Given the description of an element on the screen output the (x, y) to click on. 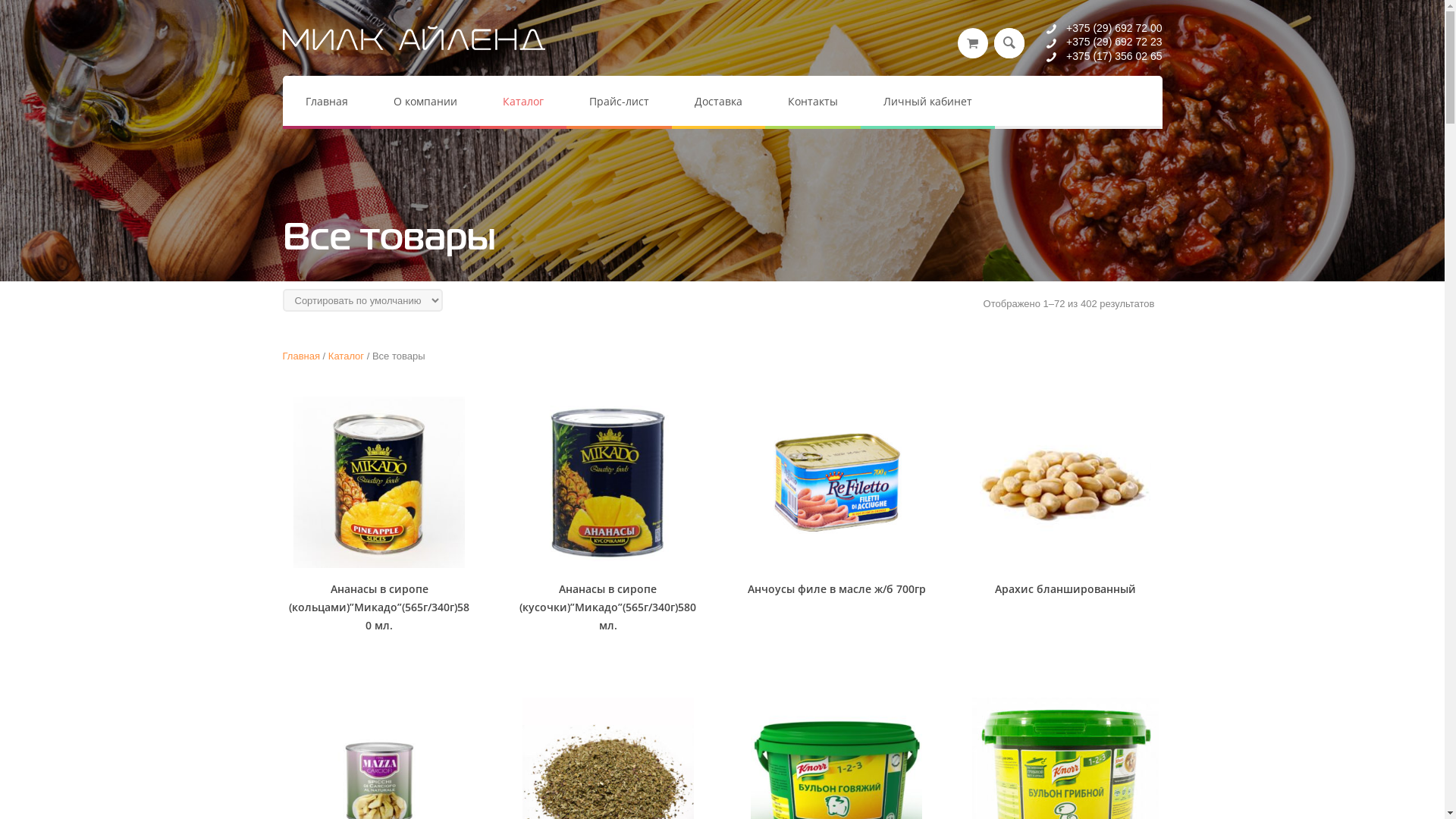
18513c49-0478-11eb-8105-50e5493adf07 Element type: hover (378, 481)
2937a494-29e9-11ee-8123-50e5493adf07 Element type: hover (836, 481)
f4d7552f-8b39-11ed-811e-50e5493adf07 Element type: hover (607, 481)
baf8597d-2864-11ea-80f1-50e5493adf07 Element type: hover (1065, 481)
